Given the description of an element on the screen output the (x, y) to click on. 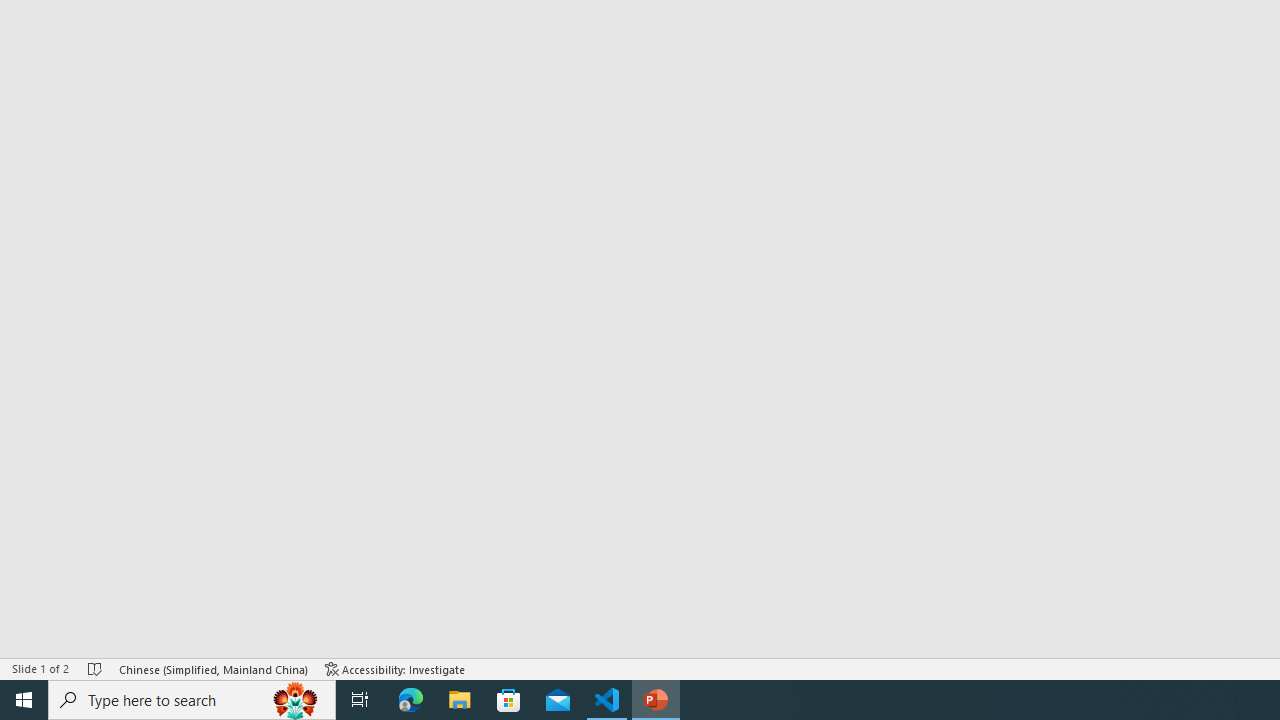
Accessibility Checker Accessibility: Investigate (395, 668)
Spell Check No Errors (95, 668)
